Given the description of an element on the screen output the (x, y) to click on. 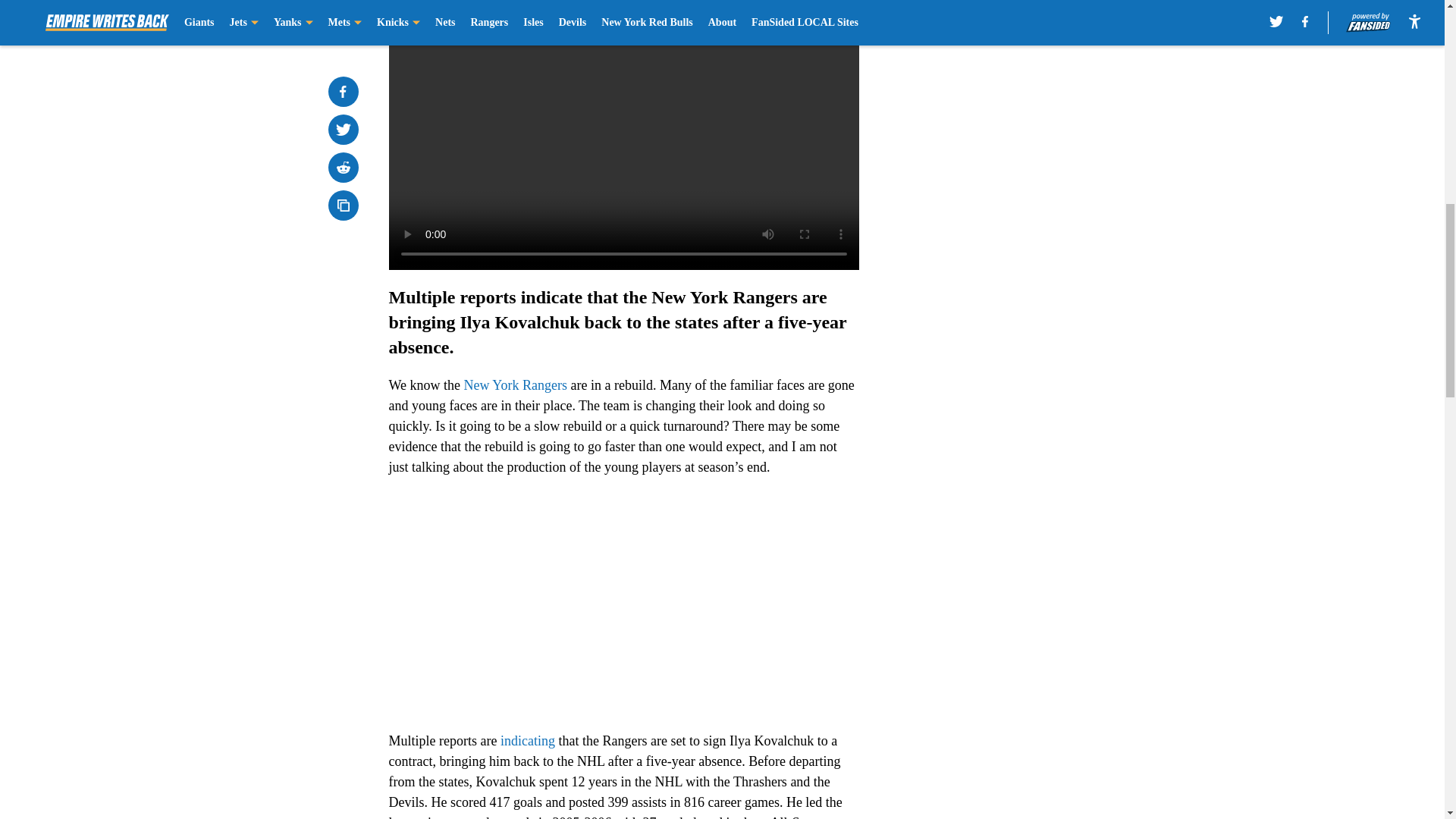
3rd party ad content (1047, 100)
indicating (528, 740)
3rd party ad content (1047, 320)
New York Rangers (515, 385)
